Given the description of an element on the screen output the (x, y) to click on. 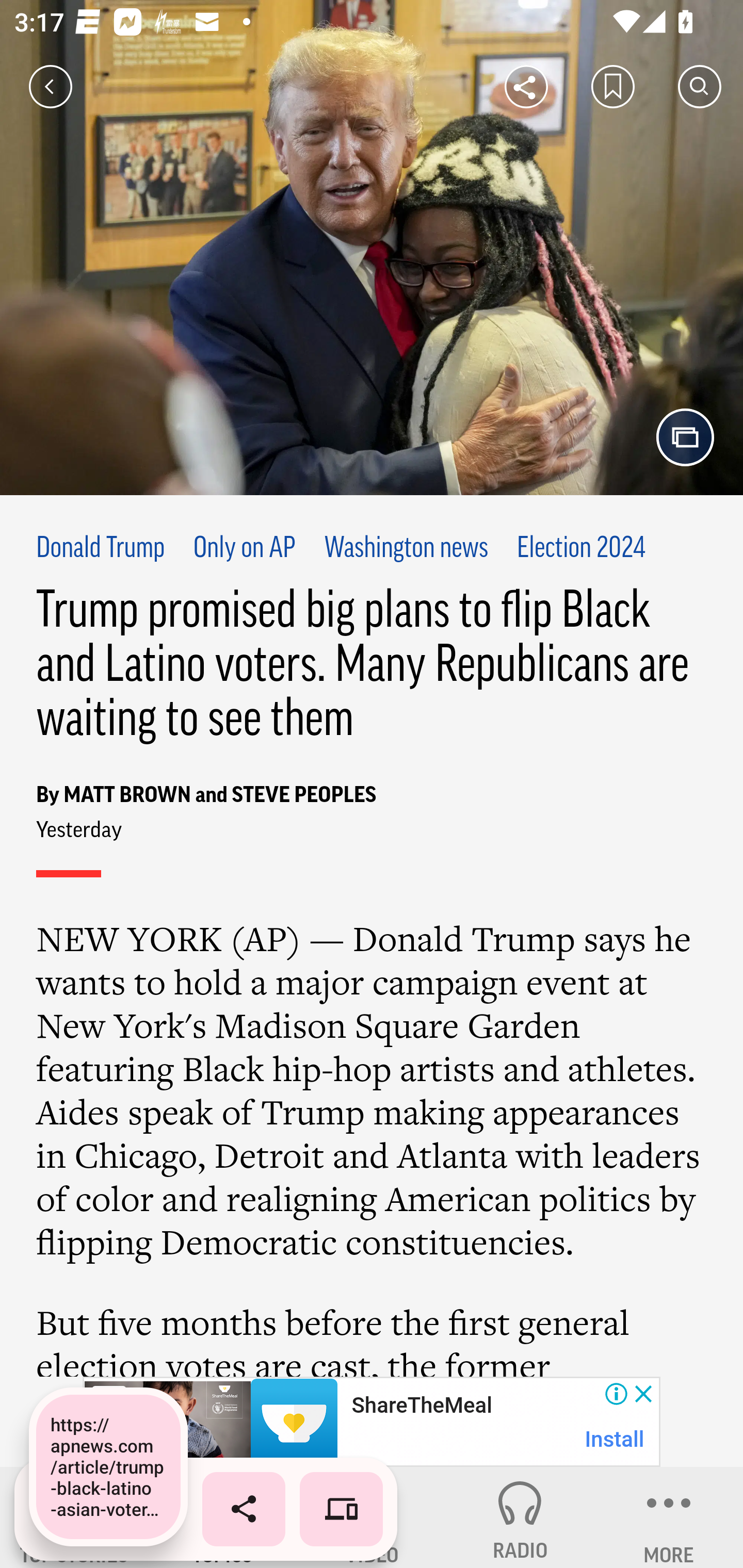
Donald Trump (101, 549)
Only on AP (243, 549)
Washington news (405, 549)
Election 2024 (581, 549)
ShareTheMeal (420, 1405)
Install (614, 1438)
RADIO (519, 1517)
MORE (668, 1517)
